Given the description of an element on the screen output the (x, y) to click on. 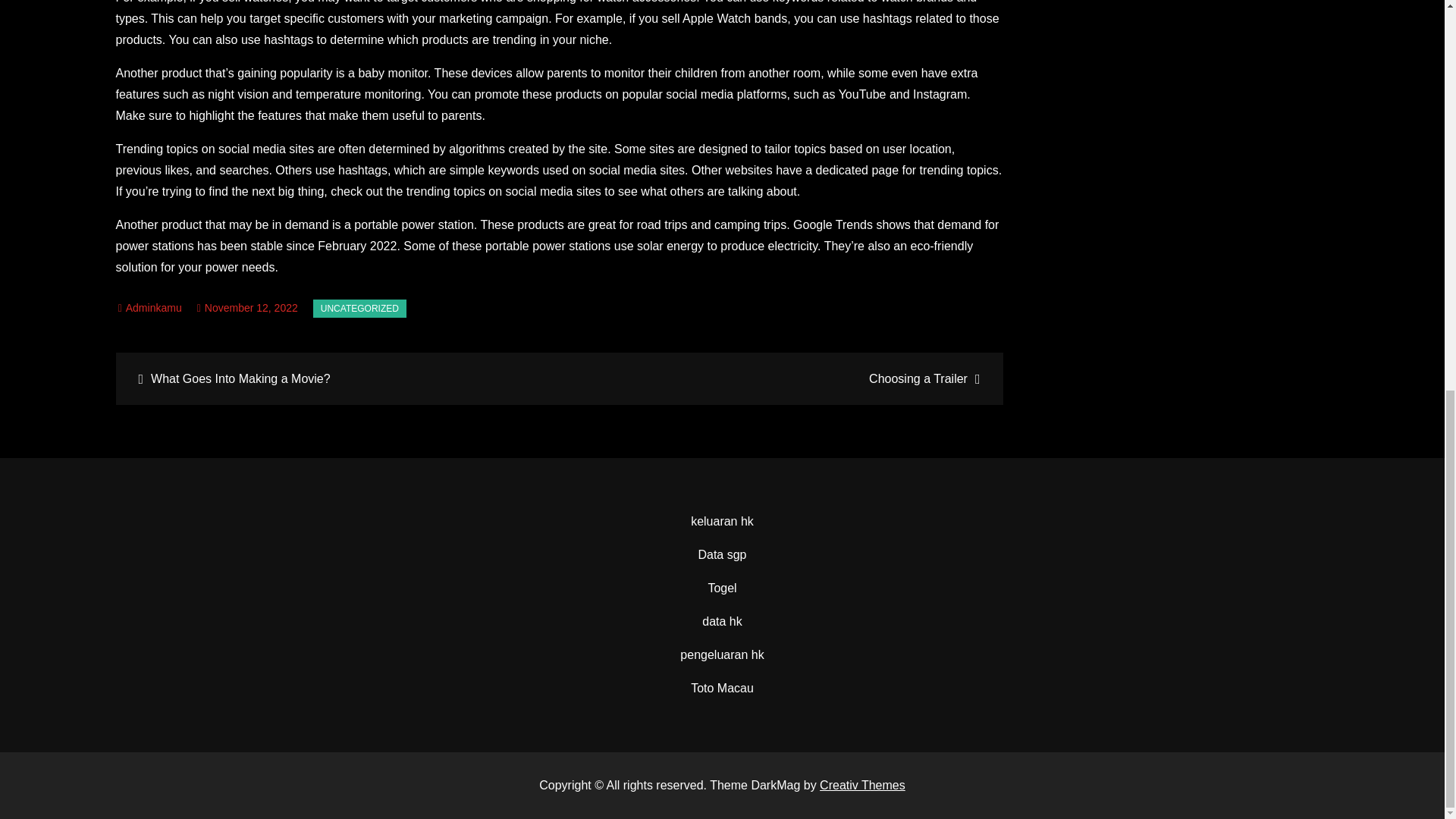
pengeluaran hk (720, 654)
Choosing a Trailer (778, 378)
November 12, 2022 (247, 307)
UNCATEGORIZED (359, 308)
data hk (721, 621)
What Goes Into Making a Movie? (339, 378)
Adminkamu (149, 307)
Creativ Themes (862, 784)
keluaran hk (722, 521)
Togel (721, 587)
Data sgp (721, 554)
Toto Macau (722, 687)
